Given the description of an element on the screen output the (x, y) to click on. 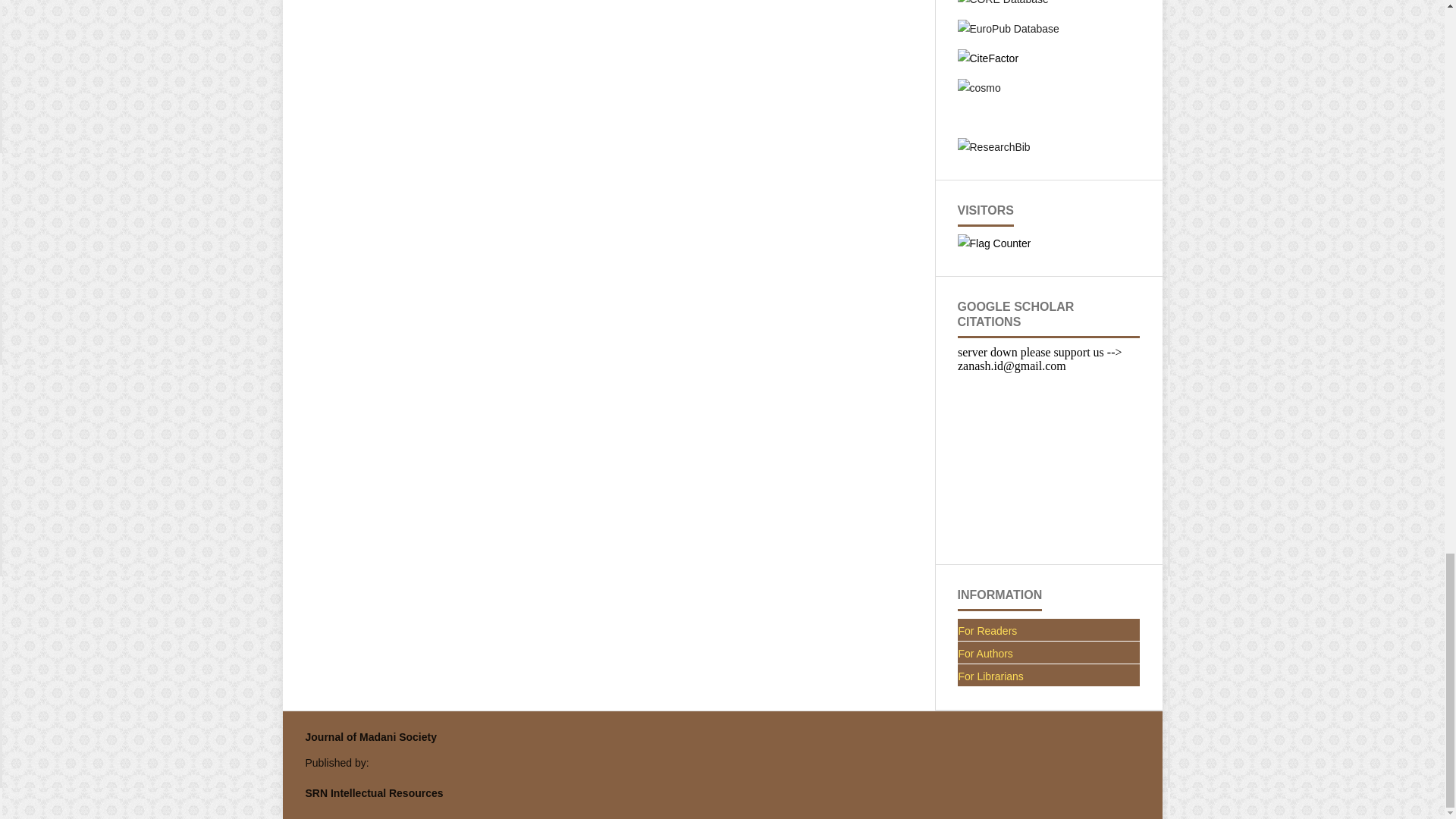
For Readers (1048, 630)
For Authors (1048, 653)
For Librarians (1048, 676)
For Librarians (1048, 676)
CiteFactor (986, 58)
For Readers (1048, 630)
For Authors (1048, 653)
